Given the description of an element on the screen output the (x, y) to click on. 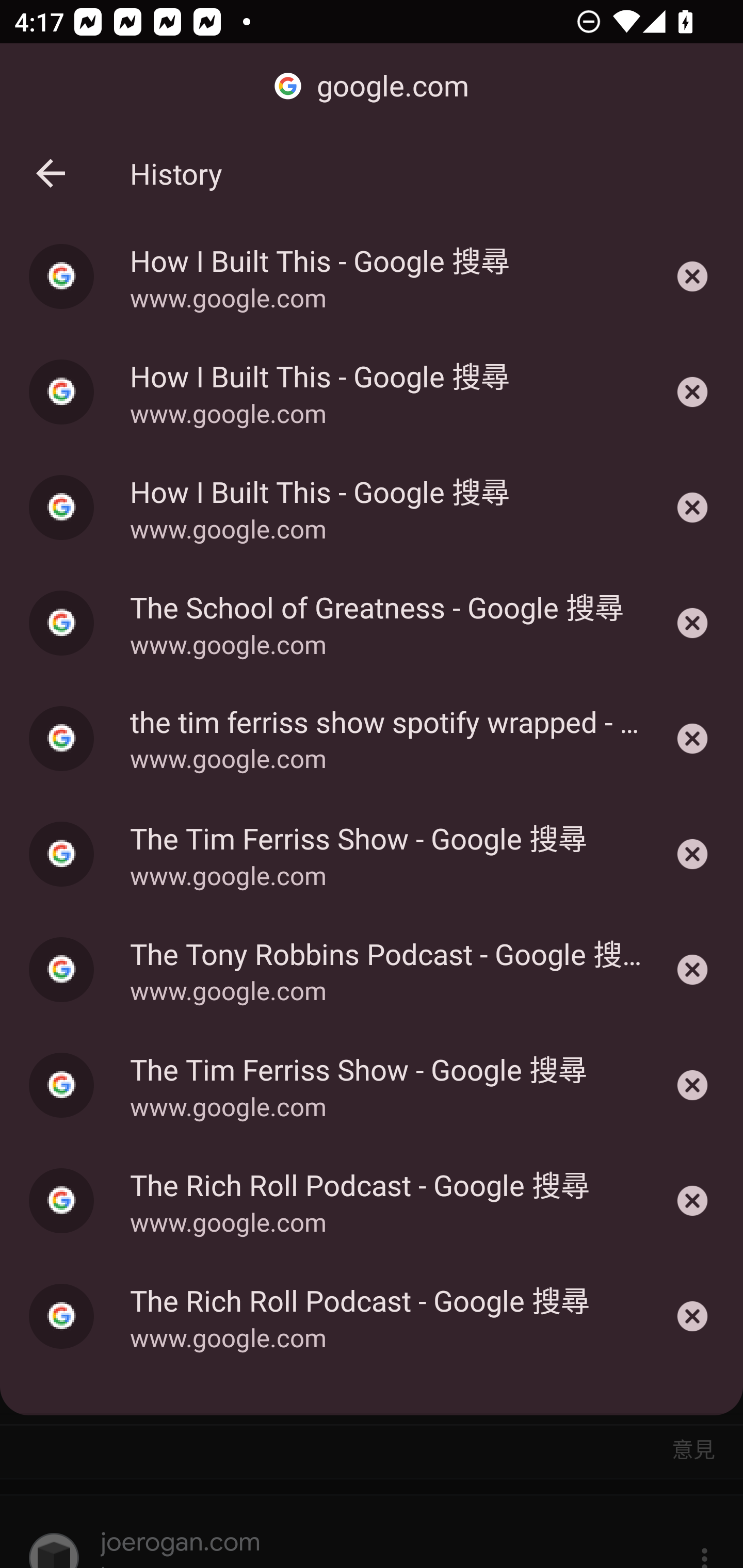
google.com (371, 86)
Back (50, 173)
How I Built This - Google 搜尋 Remove (692, 275)
How I Built This - Google 搜尋 Remove (692, 391)
How I Built This - Google 搜尋 Remove (692, 508)
The School of Greatness - Google 搜尋 Remove (692, 623)
The Tim Ferriss Show - Google 搜尋 Remove (692, 854)
The Tony Robbins Podcast - Google 搜尋 Remove (692, 969)
The Tim Ferriss Show - Google 搜尋 Remove (692, 1085)
The Rich Roll Podcast - Google 搜尋 Remove (692, 1201)
The Rich Roll Podcast - Google 搜尋 Remove (692, 1316)
